Given the description of an element on the screen output the (x, y) to click on. 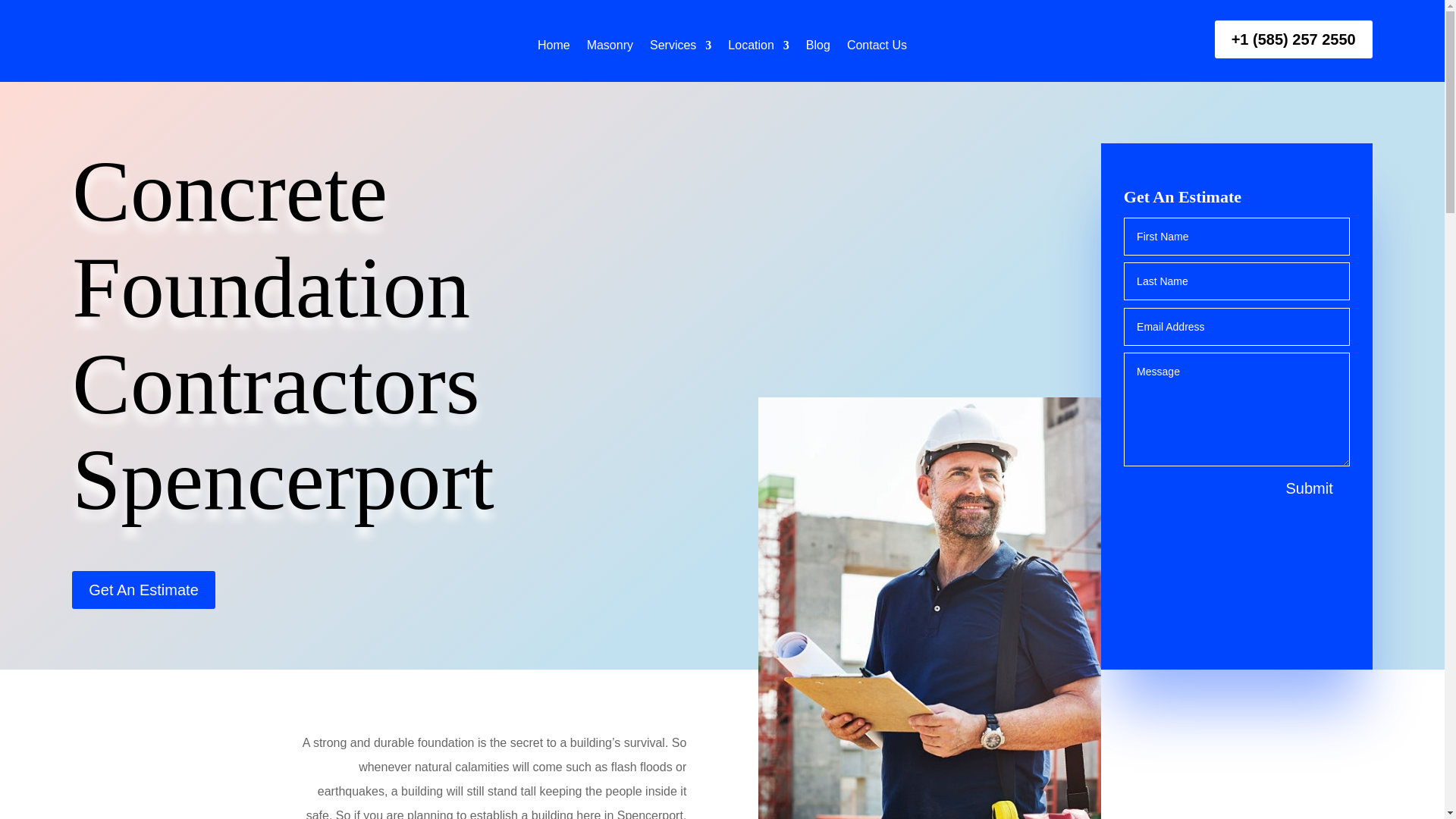
Home (553, 48)
Location (758, 48)
Masonry (609, 48)
Services (680, 48)
